Given the description of an element on the screen output the (x, y) to click on. 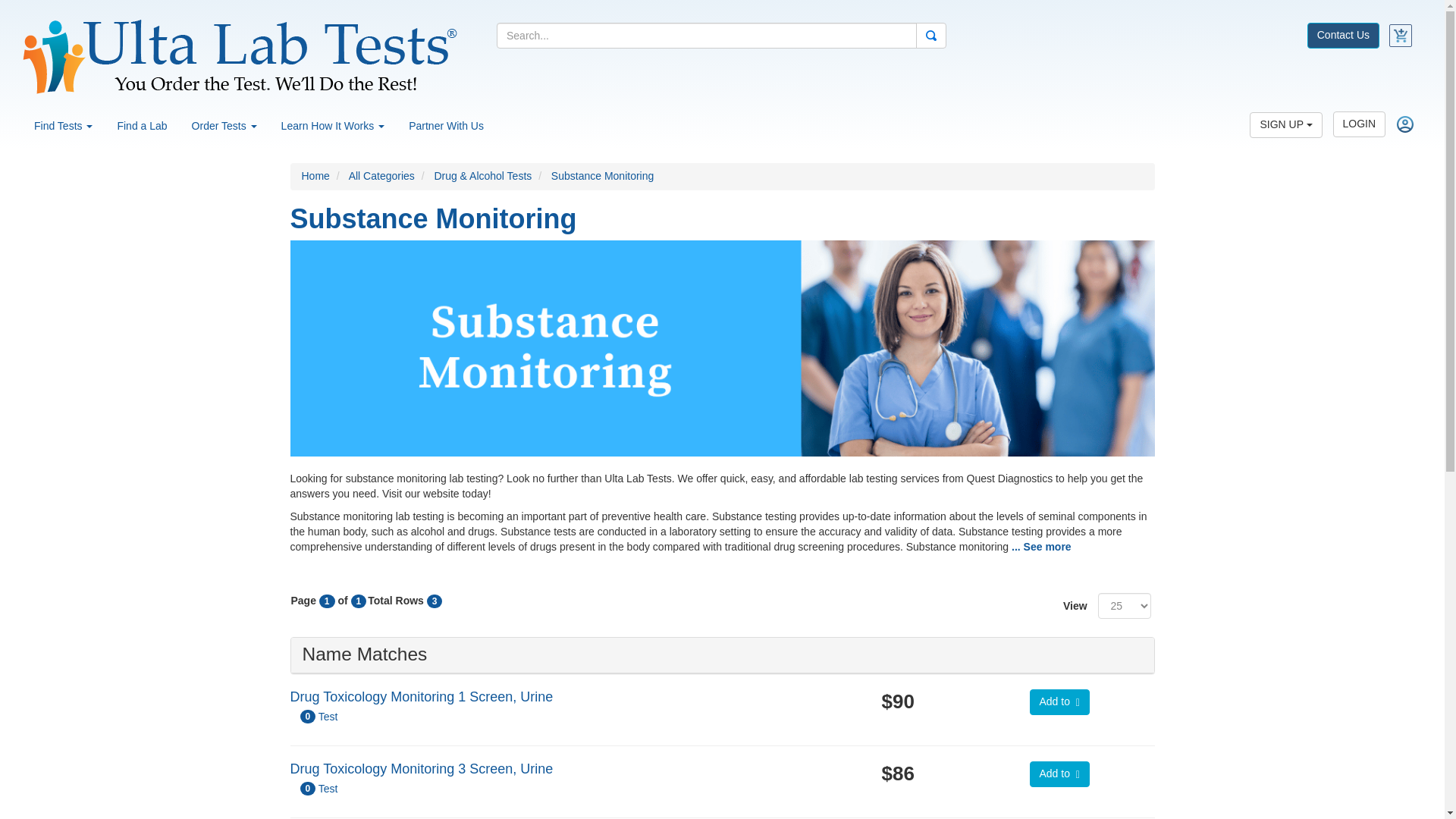
Contact Us (1342, 33)
Search (930, 35)
Add to Cart (1059, 701)
Add to Cart (1059, 774)
